Given the description of an element on the screen output the (x, y) to click on. 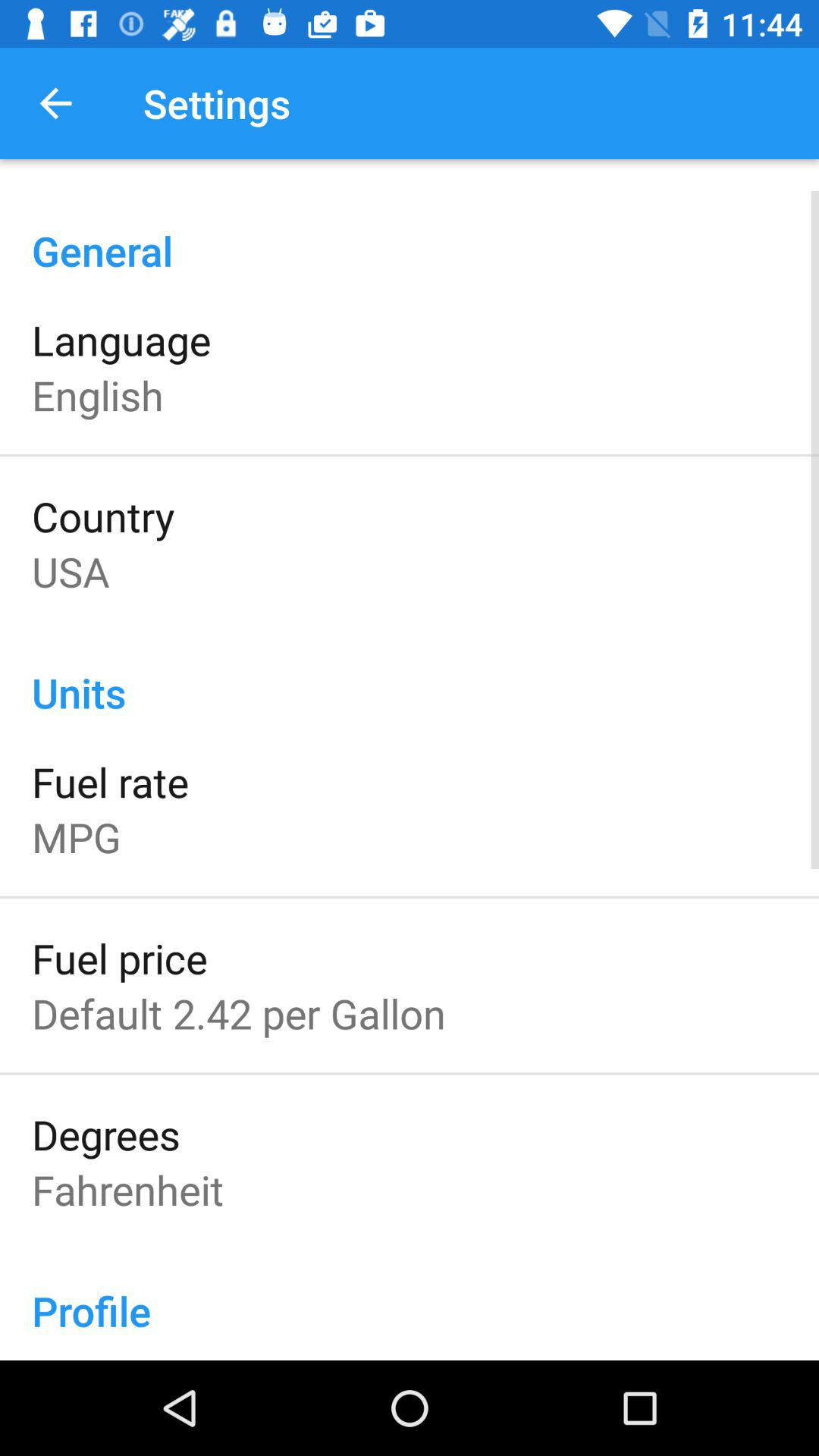
select the icon below the fuel rate icon (76, 836)
